Given the description of an element on the screen output the (x, y) to click on. 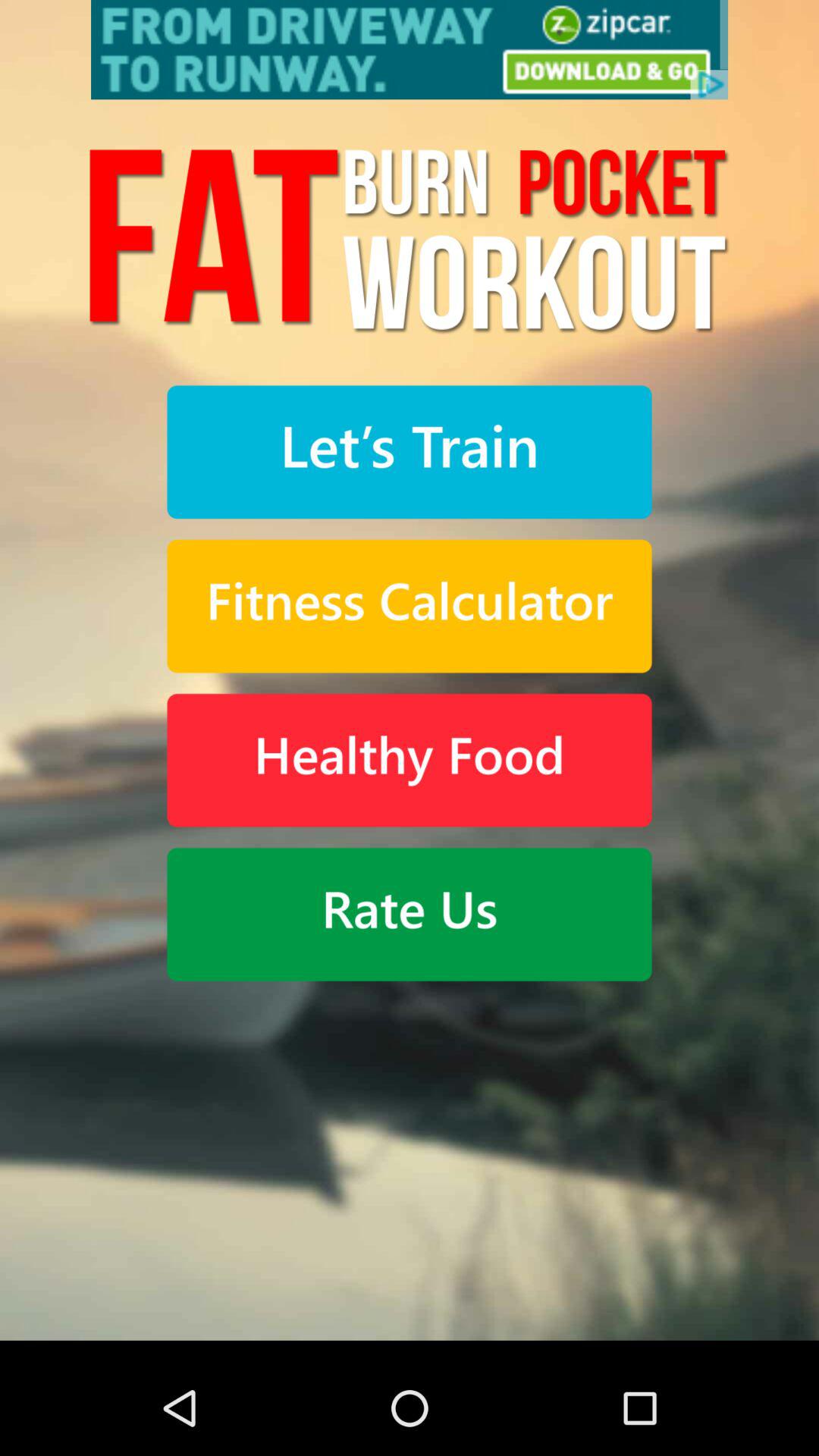
use fitness calculator (409, 606)
